Given the description of an element on the screen output the (x, y) to click on. 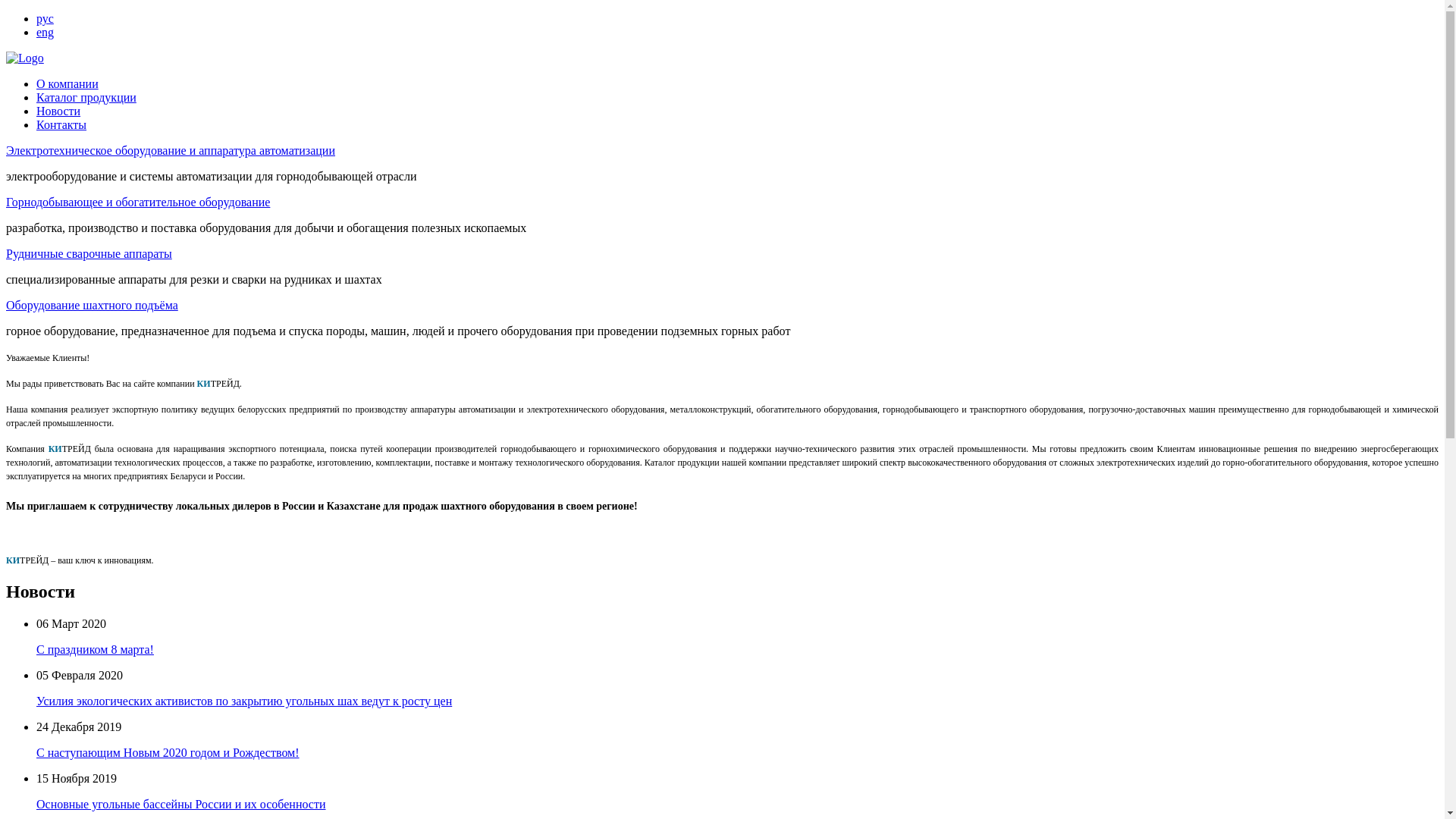
eng Element type: text (44, 31)
